Given the description of an element on the screen output the (x, y) to click on. 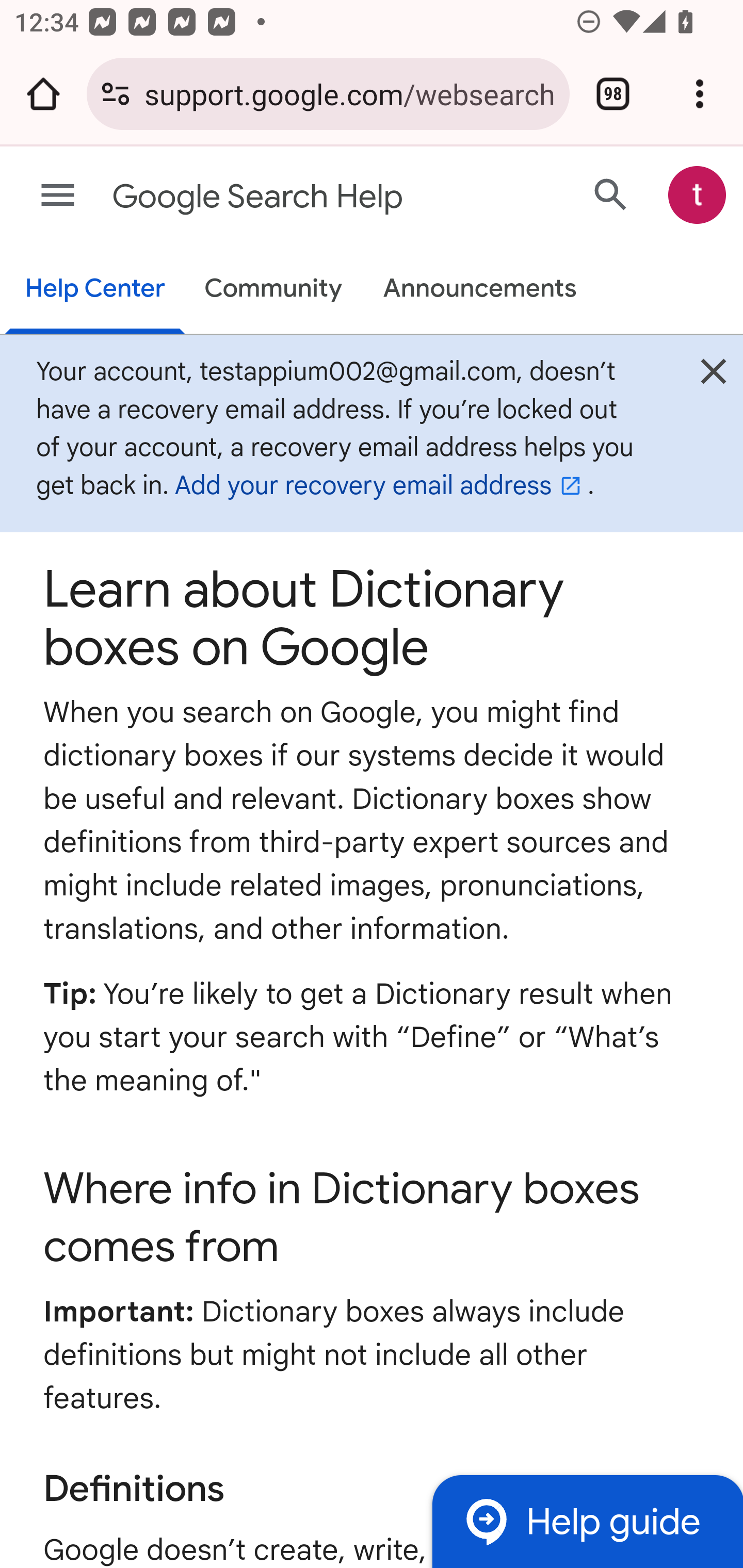
Open the home page (43, 93)
Connection is secure (115, 93)
Switch or close tabs (612, 93)
Customize and control Google Chrome (699, 93)
support.google.com/websearch/answer/10106608?hl=en (349, 92)
Main menu (58, 195)
Google Search Help (292, 197)
Search Help Center (611, 194)
Help Center (94, 289)
Community (273, 289)
Announcements (479, 289)
Close (713, 376)
Add your recovery email address (380, 485)
Help guide (587, 1520)
